Given the description of an element on the screen output the (x, y) to click on. 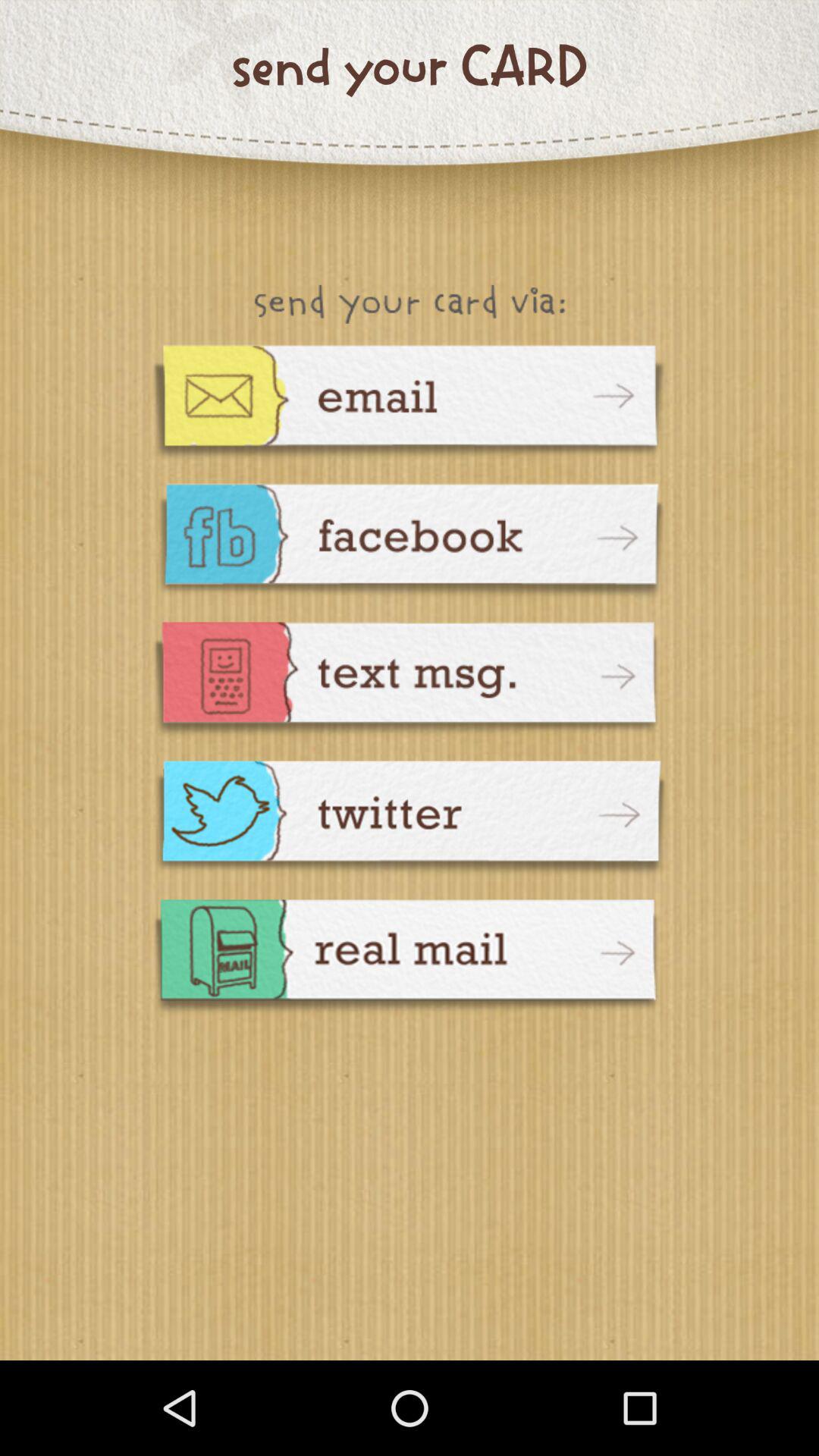
send to twitter (409, 819)
